Given the description of an element on the screen output the (x, y) to click on. 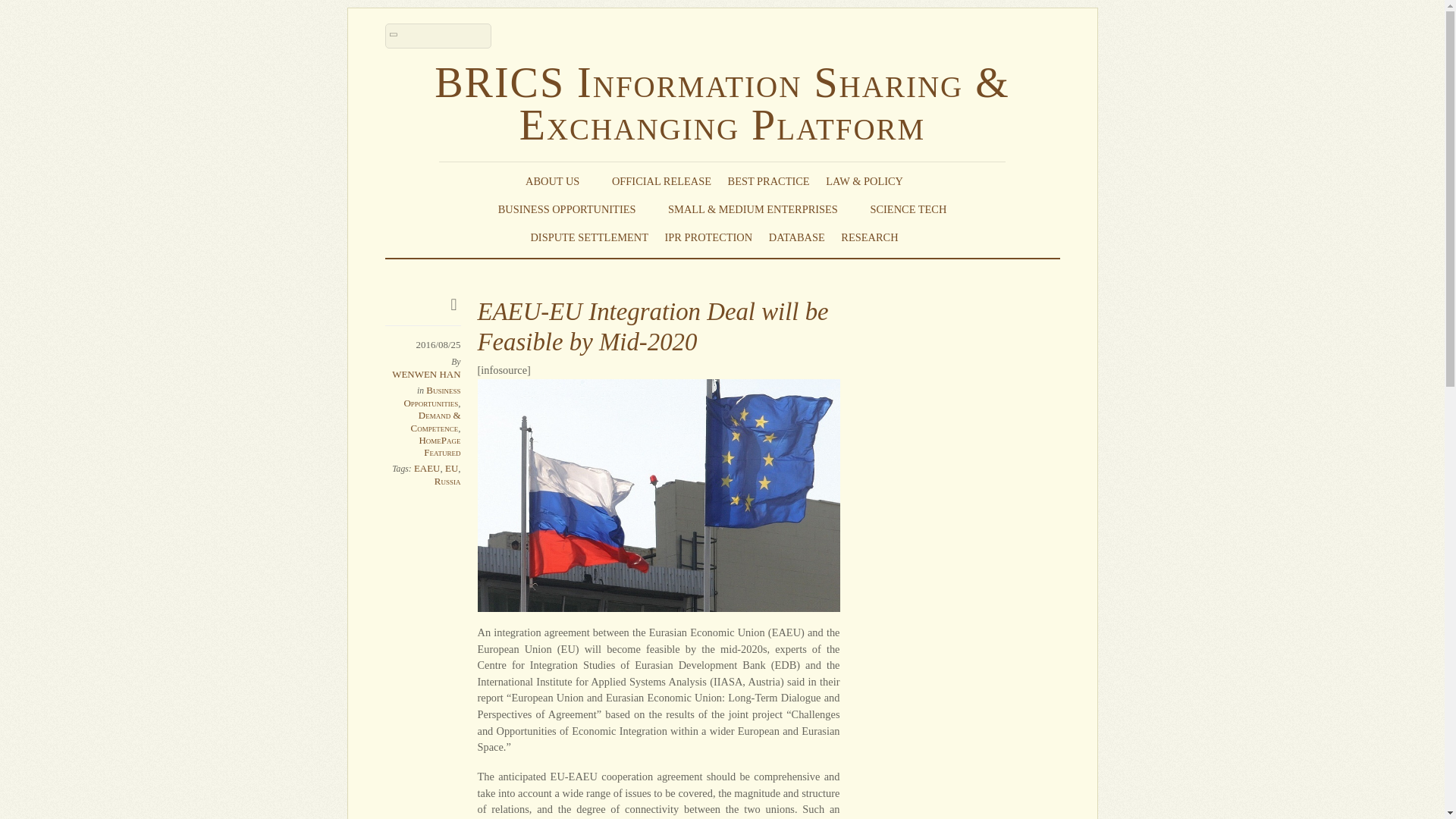
WENWEN HAN (425, 374)
Business Opportunities (431, 396)
HomePage Featured (439, 445)
SCIENCE TECH (908, 209)
BEST PRACTICE (768, 180)
RESEARCH (877, 237)
BUSINESS OPPORTUNITIES (575, 209)
OFFICIAL RELEASE (661, 180)
DISPUTE SETTLEMENT (588, 237)
DATABASE (796, 237)
ABOUT US (559, 180)
EU (451, 468)
Russia (447, 480)
IPR PROTECTION (709, 237)
EAEU-EU Integration Deal will be Feasible by Mid-2020 (652, 326)
